Given the description of an element on the screen output the (x, y) to click on. 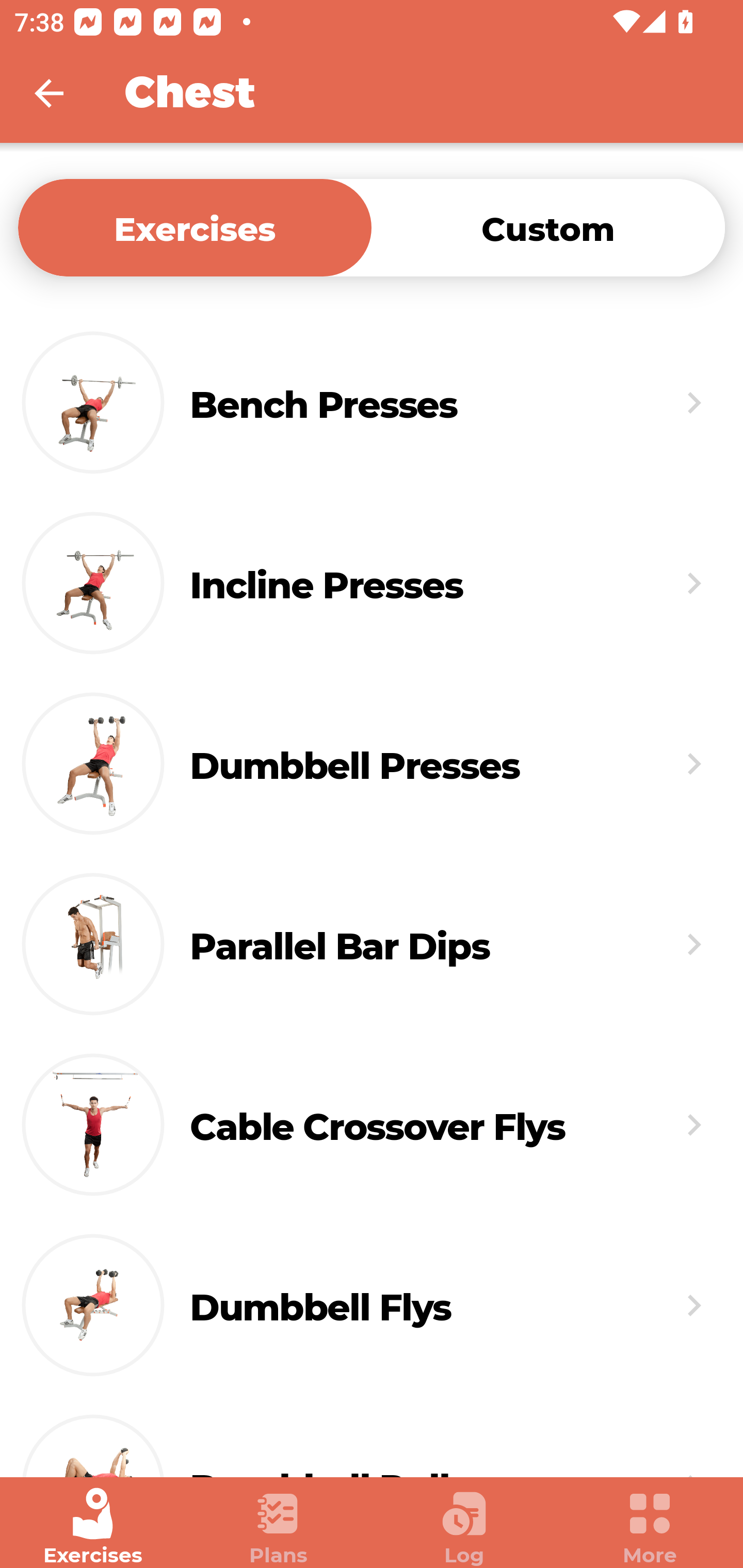
Back (62, 92)
Exercises (194, 226)
Custom (548, 226)
Exercises (92, 1527)
Plans (278, 1527)
Log (464, 1527)
More (650, 1527)
